Given the description of an element on the screen output the (x, y) to click on. 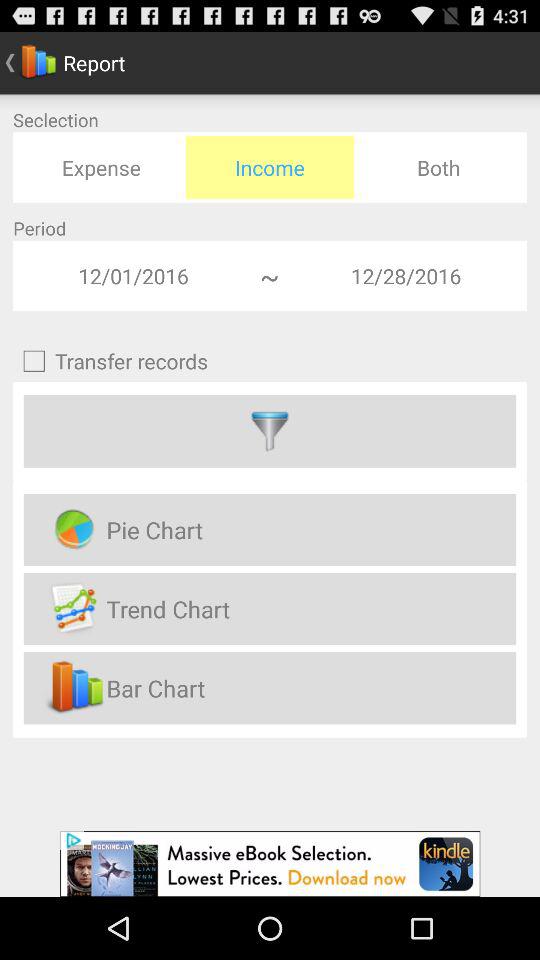
go to advertisement (270, 864)
